Given the description of an element on the screen output the (x, y) to click on. 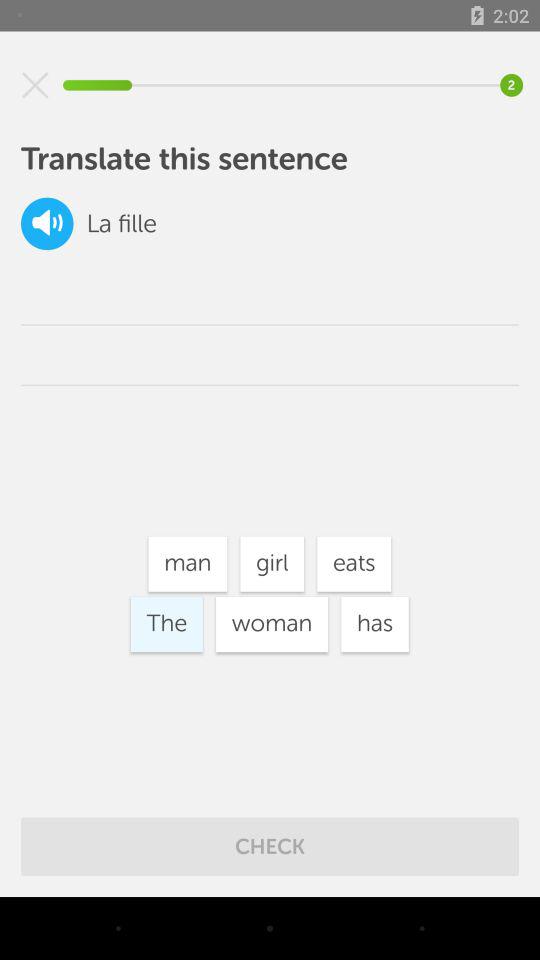
turn on the icon to the right of girl icon (354, 563)
